Given the description of an element on the screen output the (x, y) to click on. 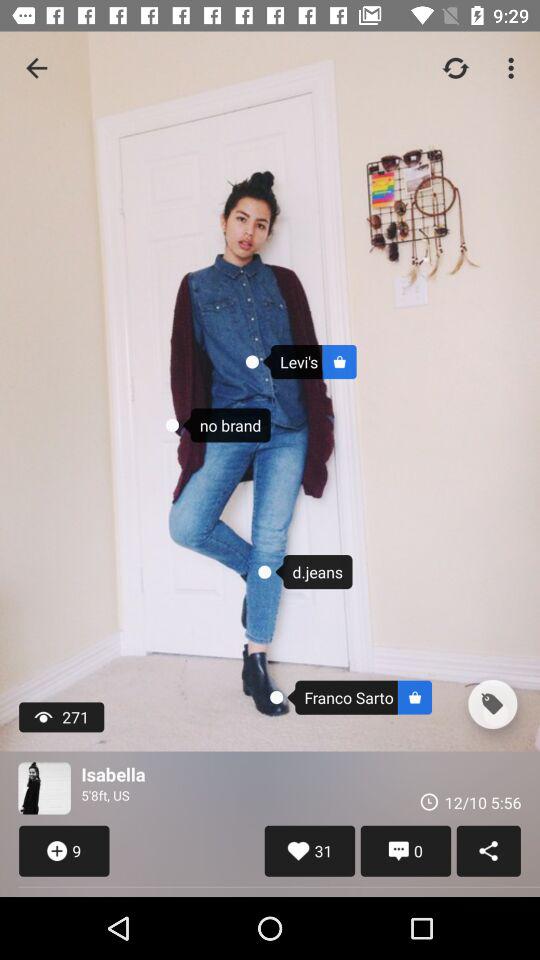
buy (492, 704)
